Given the description of an element on the screen output the (x, y) to click on. 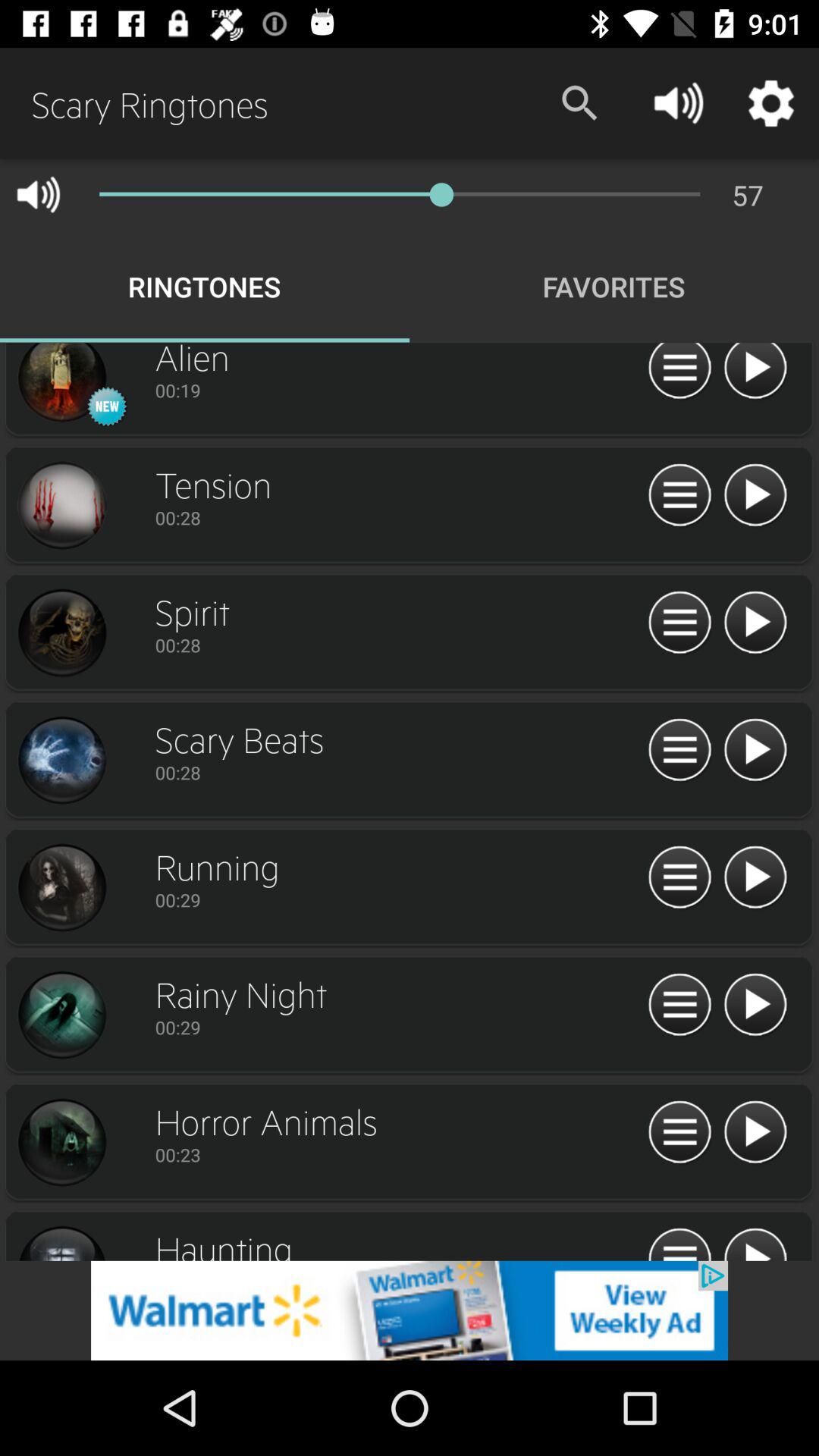
play alien ringtone (61, 384)
